Given the description of an element on the screen output the (x, y) to click on. 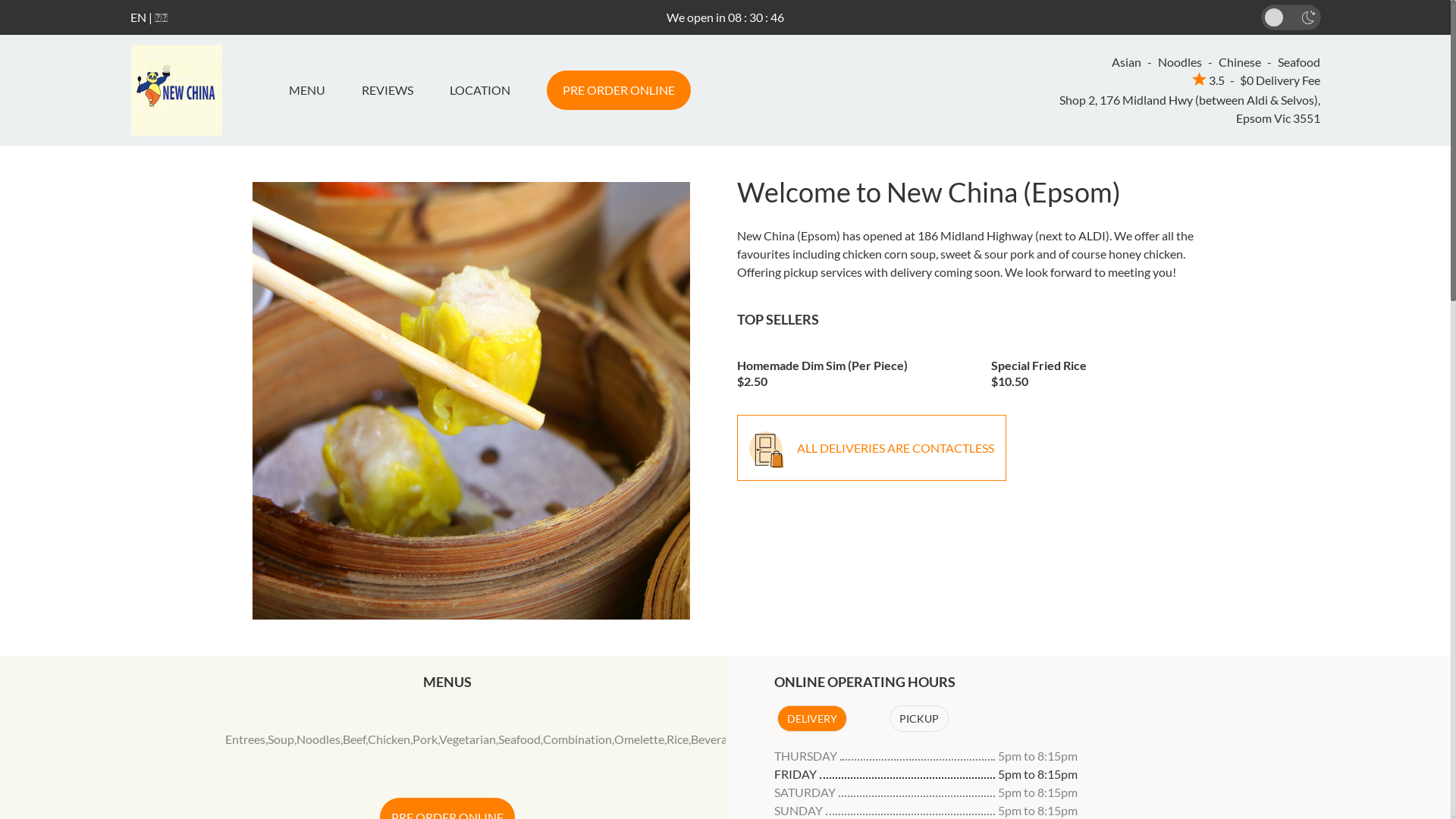
Soup Element type: text (280, 738)
Entrees Element type: text (245, 738)
Beverages Element type: text (717, 738)
Chicken Element type: text (388, 738)
Seafood Element type: text (519, 738)
Noodles Element type: text (318, 738)
EN Element type: text (138, 16)
Pork Element type: text (424, 738)
MENU Element type: text (312, 90)
Rice Element type: text (677, 738)
PICKUP Element type: text (917, 718)
REVIEWS Element type: text (386, 90)
LOCATION Element type: text (478, 90)
Beef Element type: text (353, 738)
3.5 Element type: text (1208, 79)
Vegetarian Element type: text (467, 738)
PRE ORDER ONLINE Element type: text (618, 89)
Omelette Element type: text (639, 738)
Combination Element type: text (576, 738)
DELIVERY Element type: text (811, 718)
Homemade Dim Sim (Per Piece)
$2.50 Element type: text (853, 368)
Special Fried Rice
$10.50 Element type: text (1107, 368)
